Given the description of an element on the screen output the (x, y) to click on. 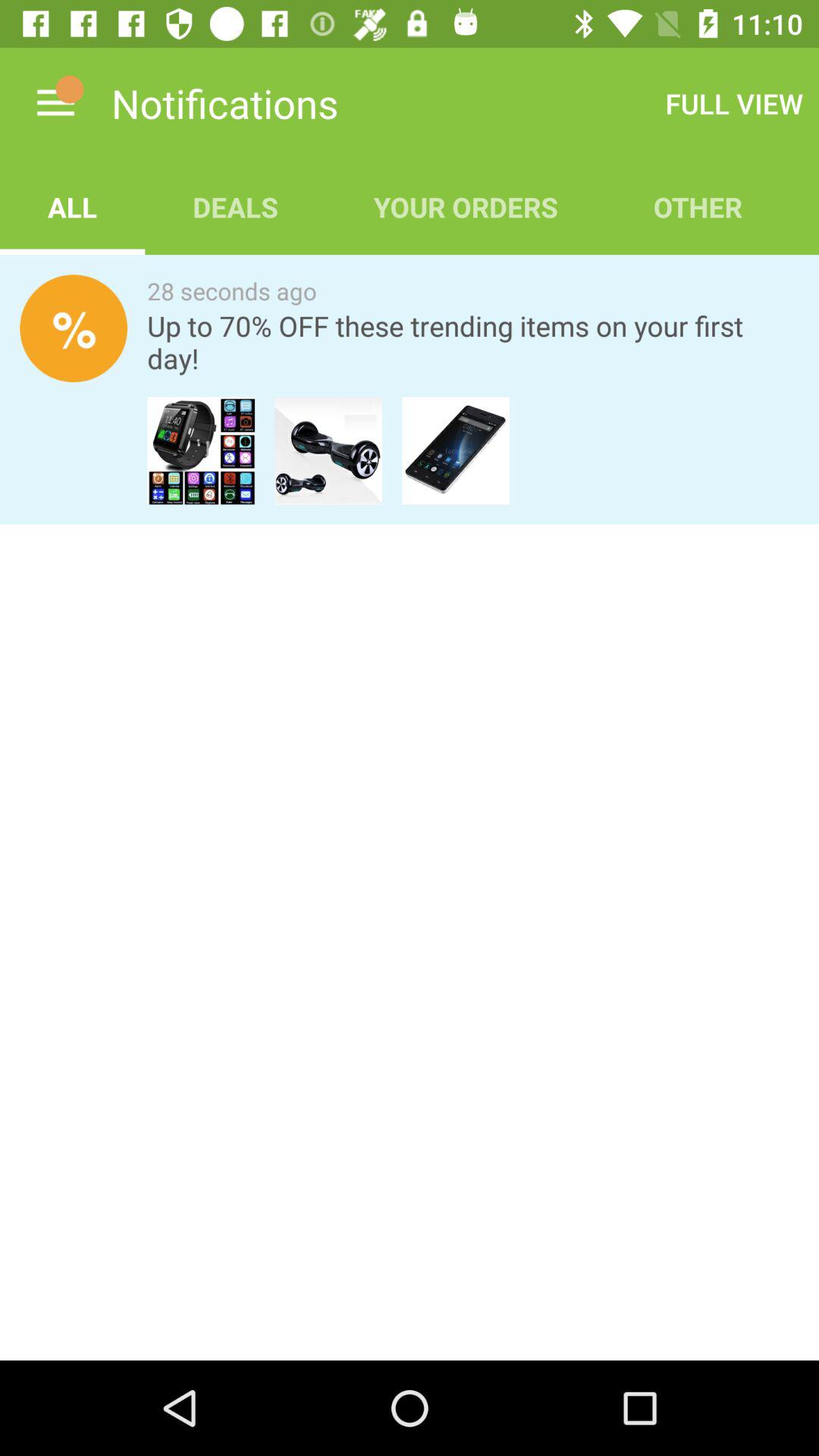
flip to the all (72, 206)
